Given the description of an element on the screen output the (x, y) to click on. 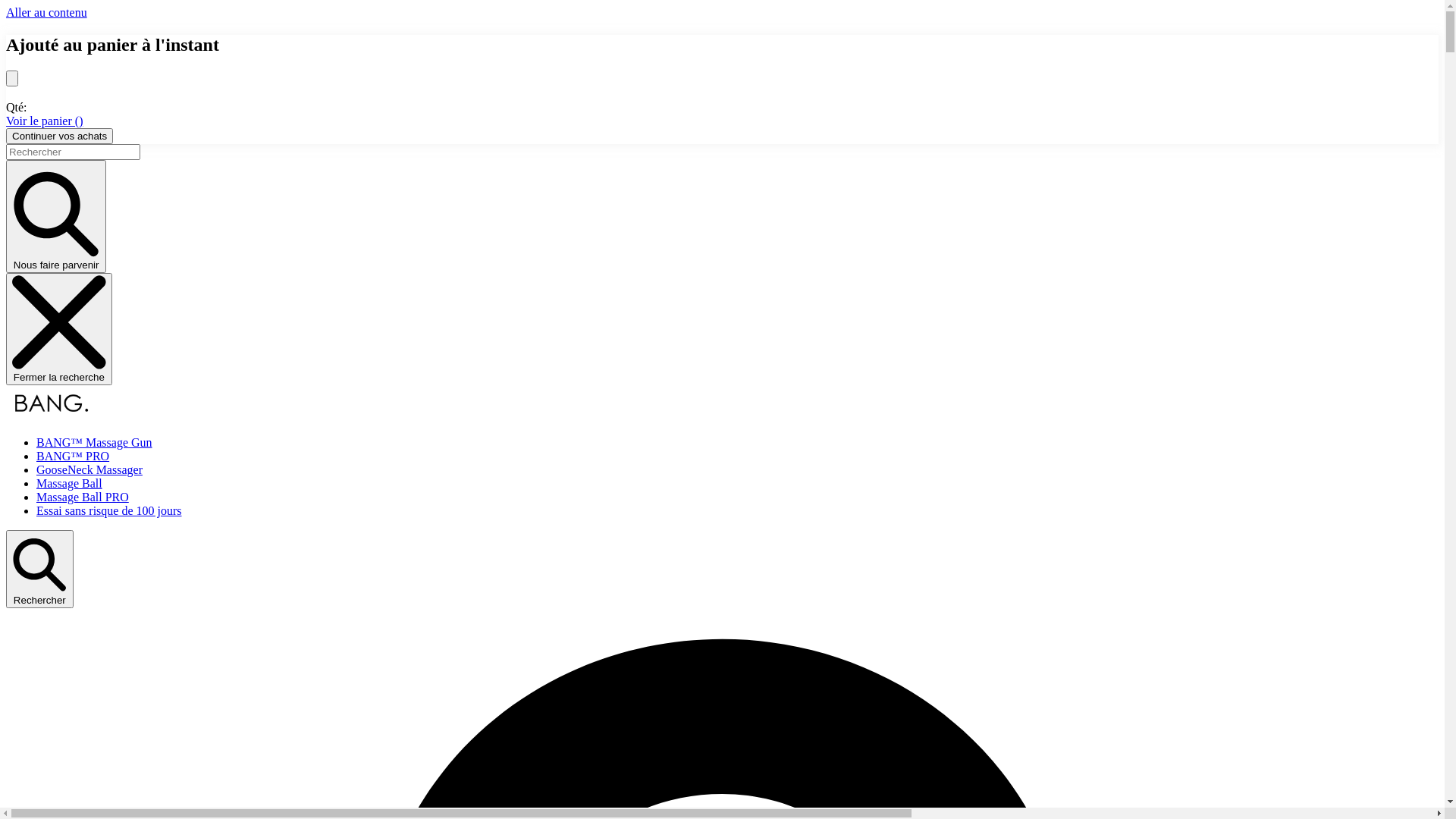
Essai sans risque de 100 jours Element type: text (109, 510)
Continuer vos achats Element type: text (59, 136)
Massage Ball Element type: text (69, 482)
Nous faire parvenir Element type: text (56, 216)
Fermer la recherche Element type: text (59, 329)
Voir le panier () Element type: text (44, 120)
Massage Ball PRO Element type: text (82, 496)
Aller au contenu Element type: text (46, 12)
Rechercher Element type: text (39, 568)
GooseNeck Massager Element type: text (89, 469)
